Given the description of an element on the screen output the (x, y) to click on. 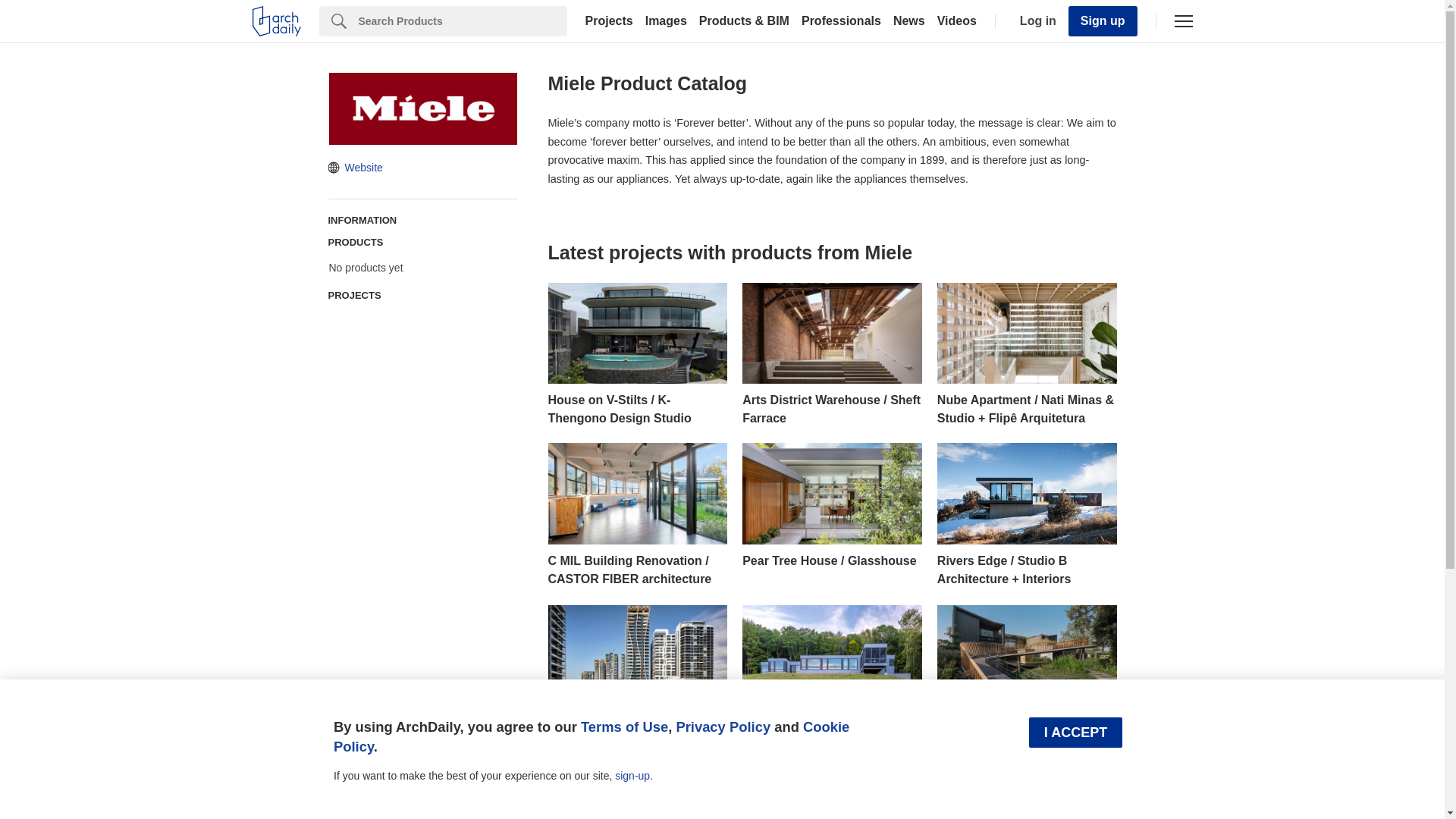
Images (666, 21)
Projects (609, 21)
Professionals (840, 21)
Log in (1035, 20)
Sign up (1102, 20)
News (908, 21)
Videos (956, 21)
